Given the description of an element on the screen output the (x, y) to click on. 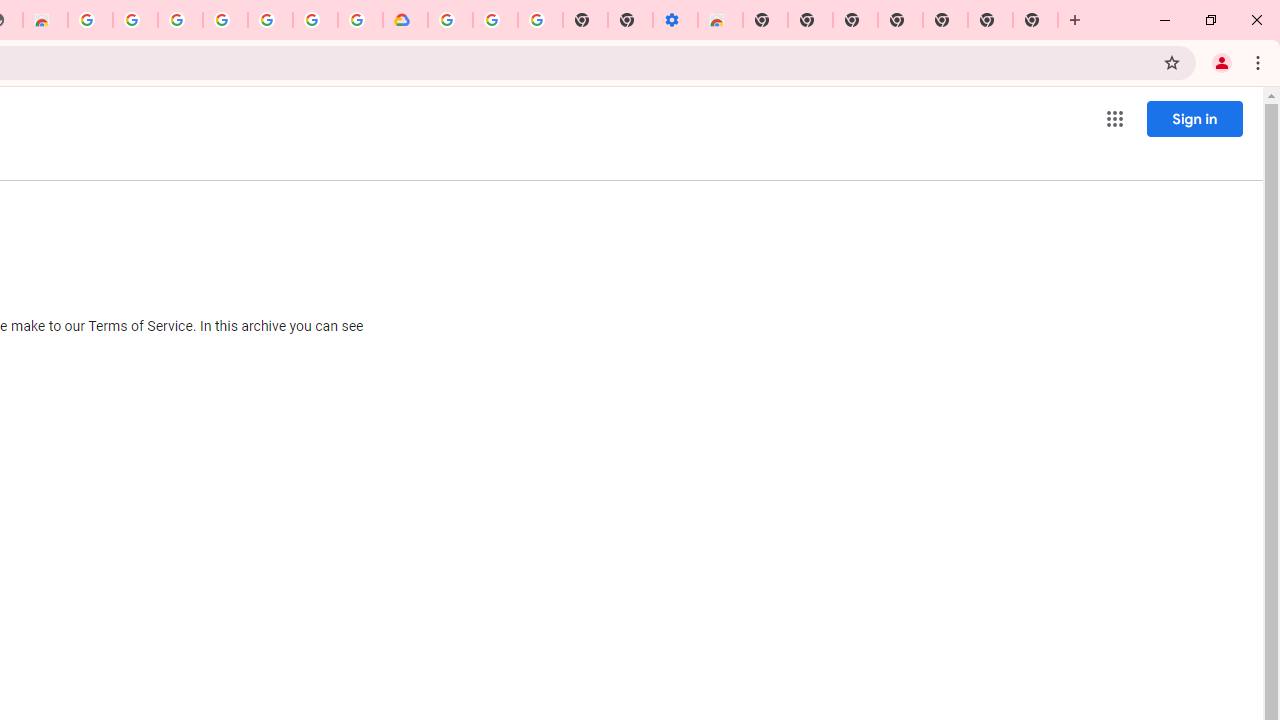
New Tab (944, 20)
New Tab (1035, 20)
New Tab (765, 20)
Ad Settings (134, 20)
Google Account Help (495, 20)
Sign in - Google Accounts (315, 20)
